Given the description of an element on the screen output the (x, y) to click on. 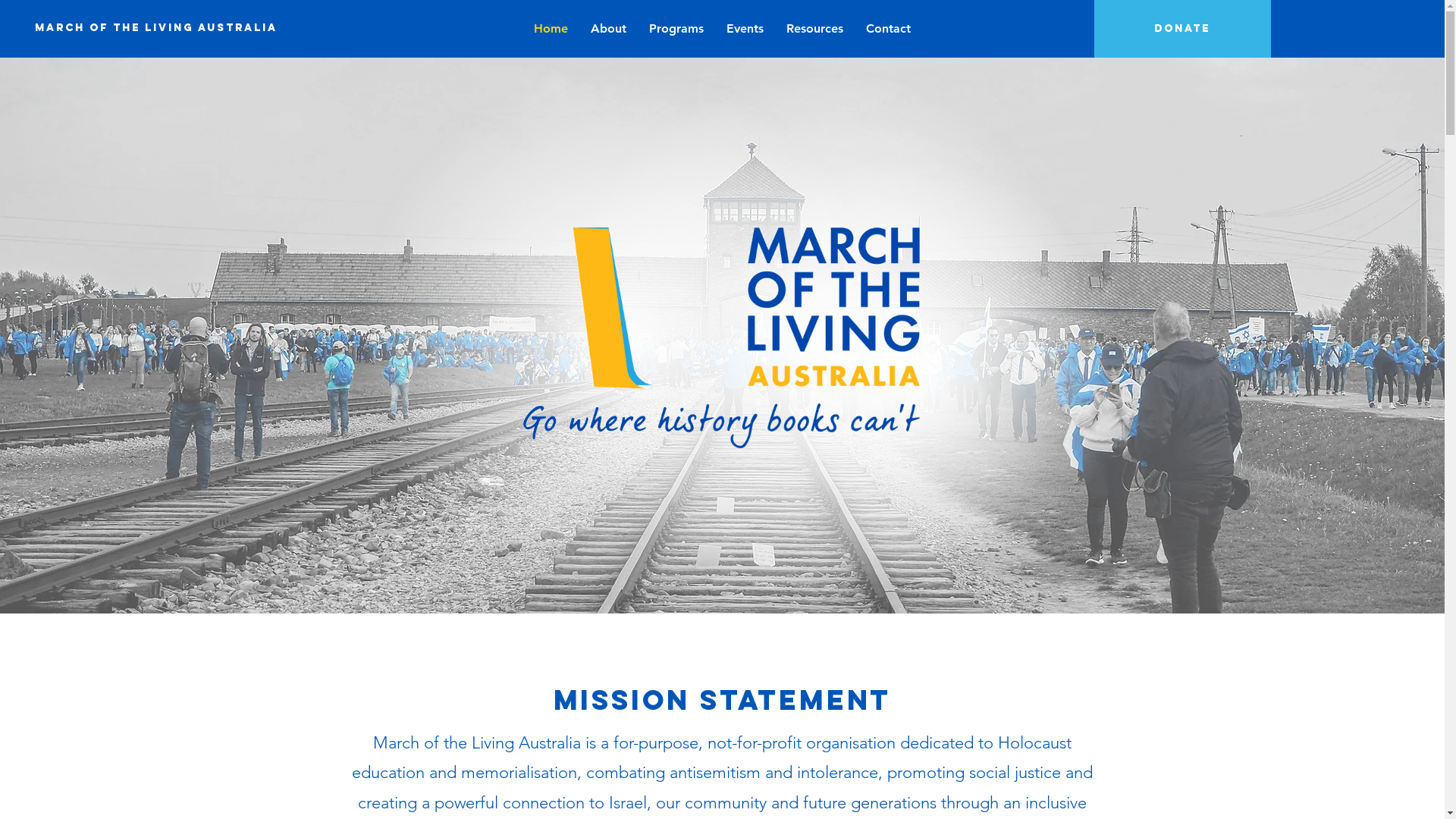
About Element type: text (608, 28)
Home Element type: text (550, 28)
Contact Element type: text (888, 28)
Programs Element type: text (676, 28)
MARCH OF THE LIVING AUSTRALIA Element type: text (155, 28)
DONATE Element type: text (1181, 28)
